Given the description of an element on the screen output the (x, y) to click on. 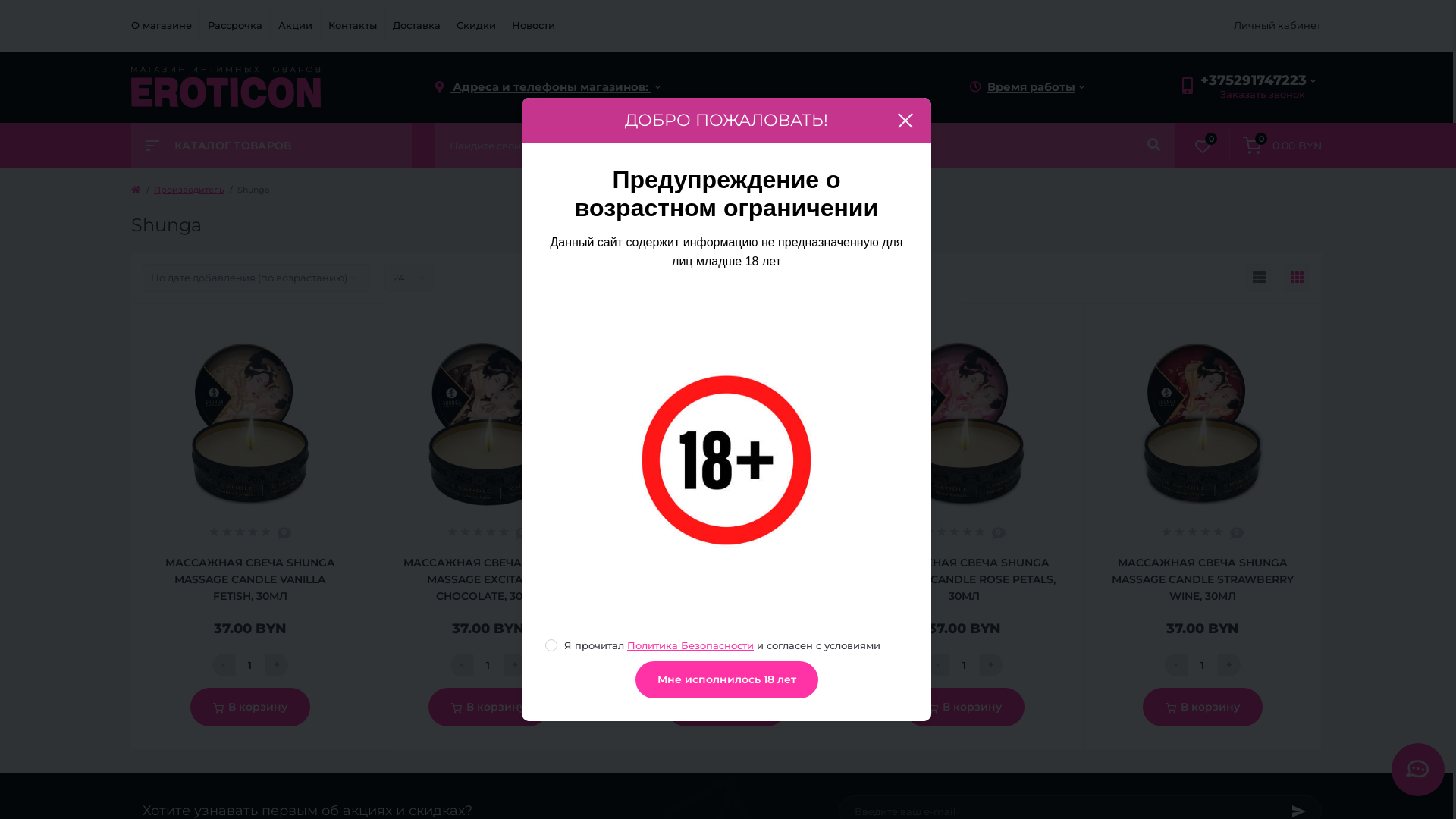
+ Element type: text (514, 664)
- Element type: text (699, 664)
- Element type: text (1175, 664)
0
0.00 BYN Element type: text (1275, 145)
- Element type: text (937, 664)
+ Element type: text (752, 664)
0 Element type: text (1202, 145)
- Element type: text (223, 664)
+ Element type: text (990, 664)
+ Element type: text (276, 664)
- Element type: text (461, 664)
+ Element type: text (1228, 664)
